Given the description of an element on the screen output the (x, y) to click on. 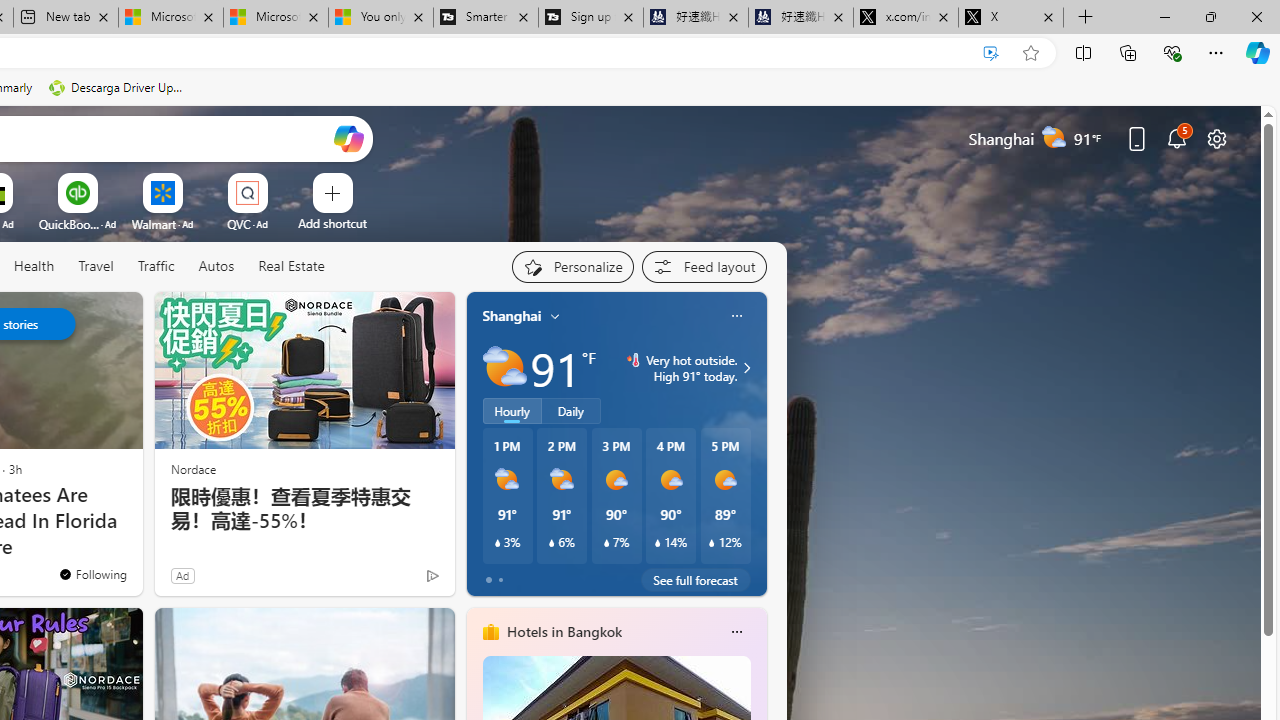
hotels-header-icon (490, 632)
Travel (95, 265)
See full forecast (695, 579)
Hourly (511, 411)
Enhance video (991, 53)
